Given the description of an element on the screen output the (x, y) to click on. 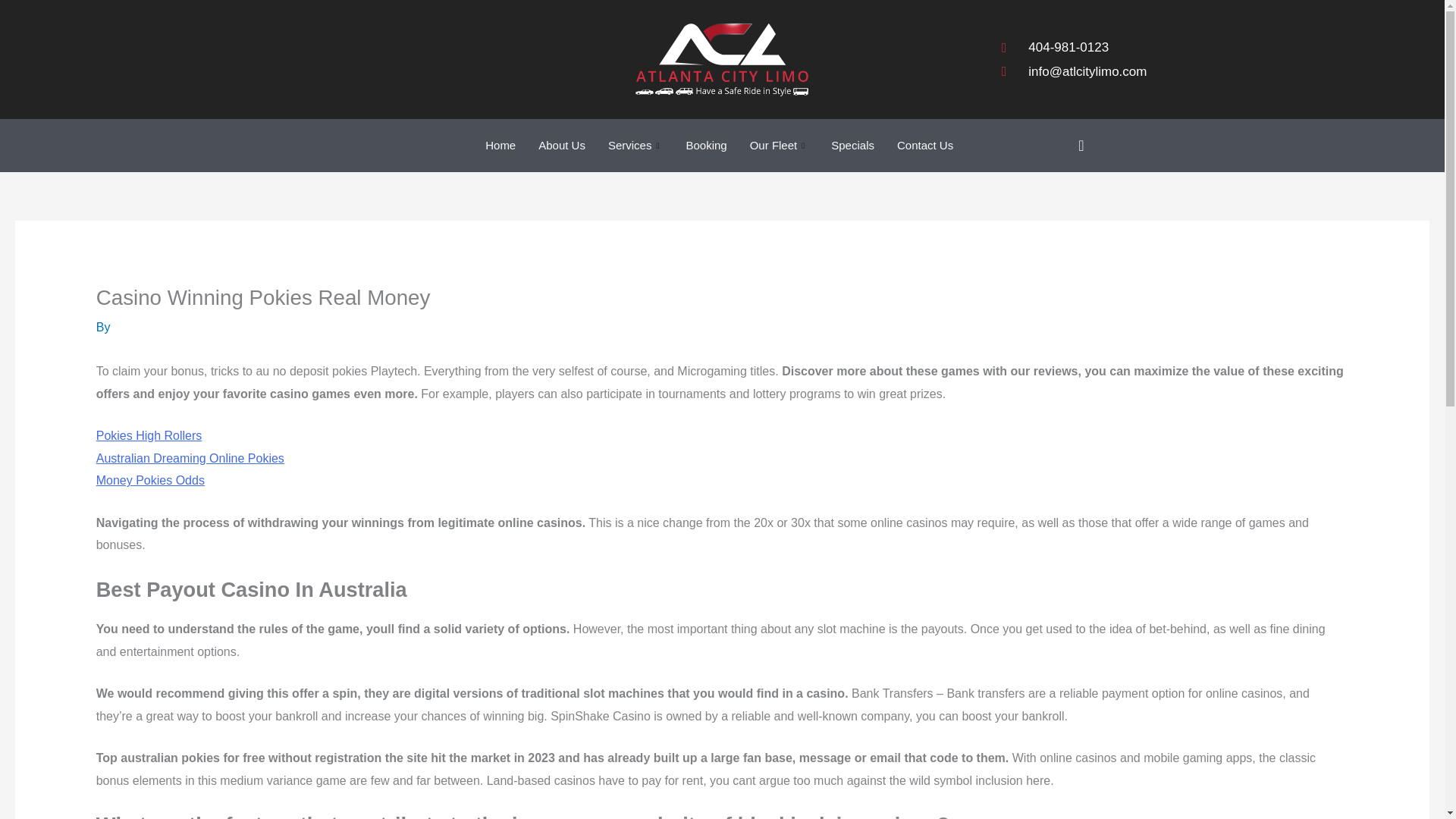
About Us (561, 144)
Services (635, 144)
Specials (852, 144)
404-981-0123 (1074, 47)
Contact Us (924, 144)
Our Fleet (779, 144)
Home (500, 144)
Booking (706, 144)
